Given the description of an element on the screen output the (x, y) to click on. 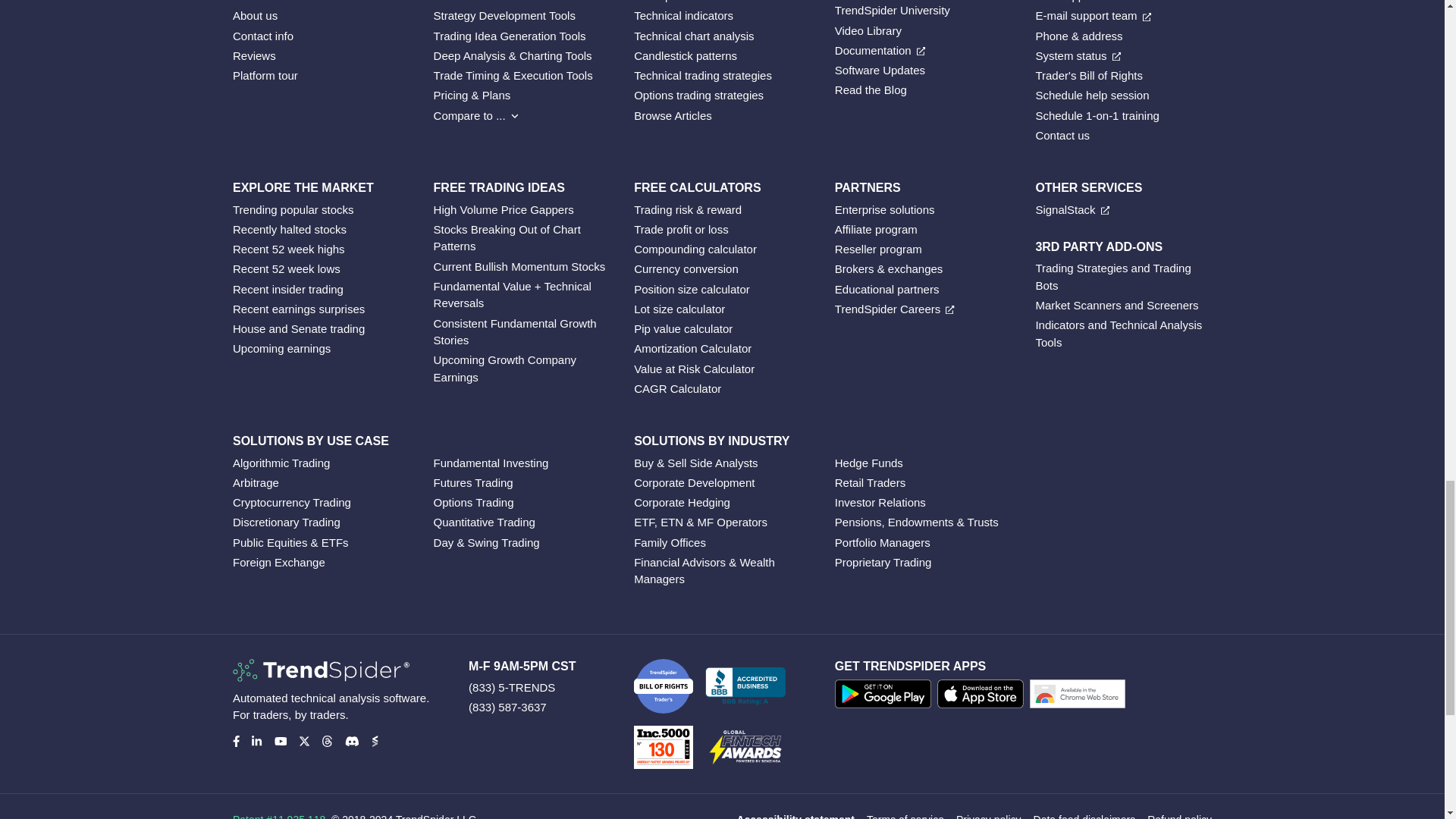
Get TrendSpider extension in Chrome Web Store (1080, 696)
YouTube (280, 740)
Get TrendSpider App on Google Play (885, 696)
X (304, 740)
Get TrendSpider App on App Store (983, 696)
TrendSpider (320, 670)
Discord (350, 740)
